Given the description of an element on the screen output the (x, y) to click on. 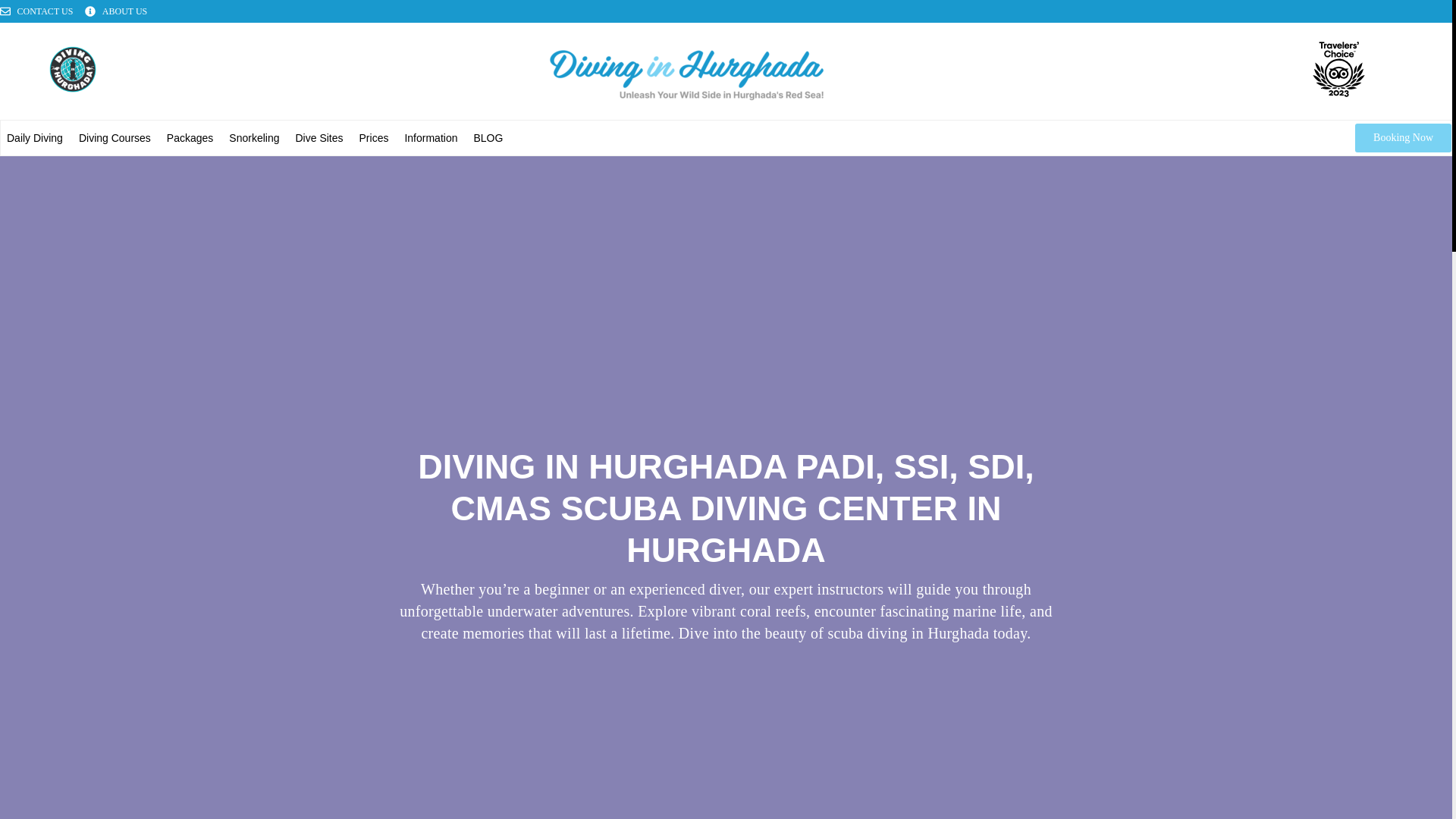
Prices (373, 137)
Snorkeling (253, 137)
Information (430, 137)
CONTACT US (36, 11)
Packages (189, 137)
Booking Now (1403, 137)
Dive Sites (319, 137)
Diving Courses (114, 137)
ABOUT US (115, 11)
Daily Diving (34, 137)
